Given the description of an element on the screen output the (x, y) to click on. 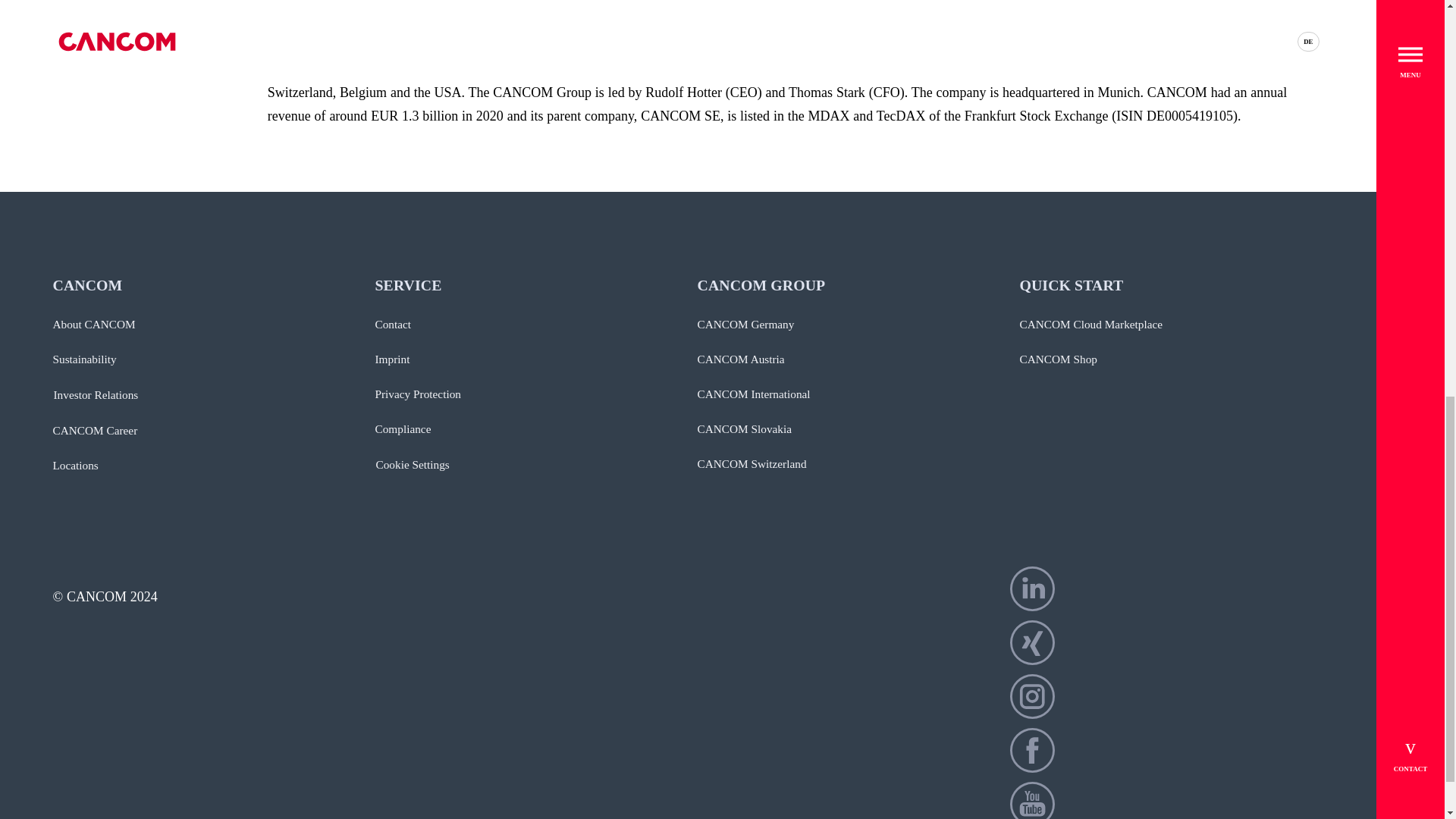
About CANCOM (93, 324)
Sustainability (84, 359)
Privacy Protection (417, 394)
CANCOM Cloud Marketplace (1090, 324)
Compliance (402, 428)
CANCOM Career (95, 430)
CANCOM Austria (740, 359)
Cookie Settings (411, 464)
CANCOM Slovakia (744, 428)
Locations (75, 465)
CANCOM Switzerland (751, 464)
CANCOM International (753, 394)
Contact (392, 324)
CANCOM Germany (745, 324)
CANCOM Shop (1057, 359)
